Given the description of an element on the screen output the (x, y) to click on. 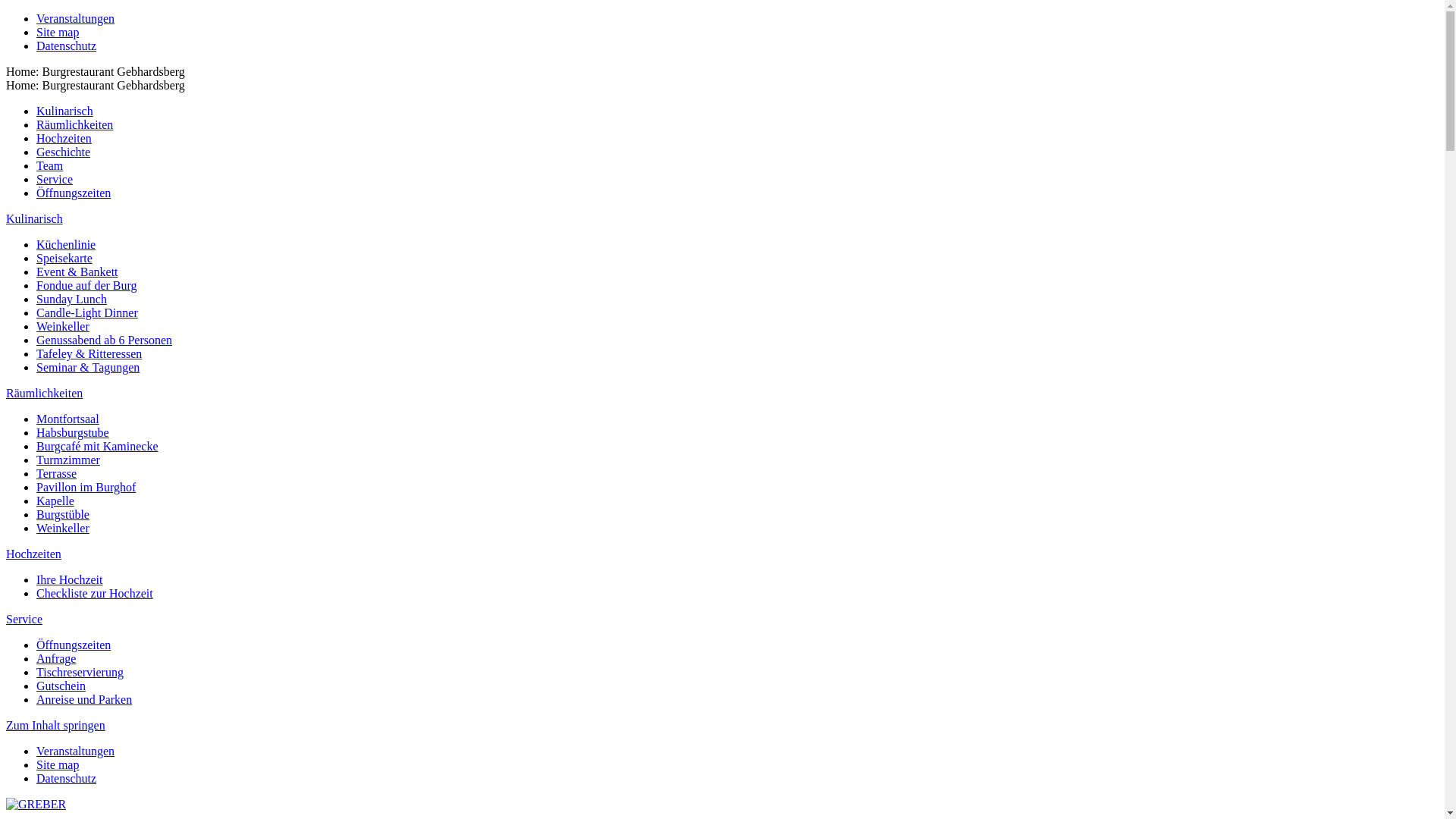
Datenschutz Element type: text (66, 777)
Datenschutz Element type: text (66, 45)
Hochzeiten Element type: text (33, 553)
Weinkeller Element type: text (62, 326)
Anreise und Parken Element type: text (83, 699)
Candle-Light Dinner Element type: text (87, 312)
Habsburgstube Element type: text (72, 432)
Tischreservierung Element type: text (79, 671)
Turmzimmer Element type: text (68, 459)
Home: Burgrestaurant Gebhardsberg Element type: text (95, 71)
Checkliste zur Hochzeit Element type: text (94, 592)
Seminar & Tagungen Element type: text (87, 366)
Service Element type: text (24, 618)
Ihre Hochzeit Element type: text (69, 579)
Tafeley & Ritteressen Element type: text (88, 353)
Anfrage Element type: text (55, 658)
Kulinarisch Element type: text (34, 218)
Team Element type: text (49, 165)
GREBER Element type: hover (35, 804)
Hochzeiten Element type: text (63, 137)
Kulinarisch Element type: text (64, 110)
Site map Element type: text (57, 764)
Genussabend ab 6 Personen Element type: text (104, 339)
Fondue auf der Burg Element type: text (86, 285)
Home: Burgrestaurant Gebhardsberg Element type: text (95, 84)
Montfortsaal Element type: text (67, 418)
Veranstaltungen Element type: text (75, 750)
Kapelle Element type: text (55, 500)
Site map Element type: text (57, 31)
Terrasse Element type: text (56, 473)
Veranstaltungen Element type: text (75, 18)
Speisekarte Element type: text (64, 257)
Service Element type: text (54, 178)
Gutschein Element type: text (60, 685)
Zum Inhalt springen Element type: text (55, 724)
Geschichte Element type: text (63, 151)
Pavillon im Burghof Element type: text (85, 486)
Weinkeller Element type: text (62, 527)
Sunday Lunch Element type: text (71, 298)
Event & Bankett Element type: text (77, 271)
